Given the description of an element on the screen output the (x, y) to click on. 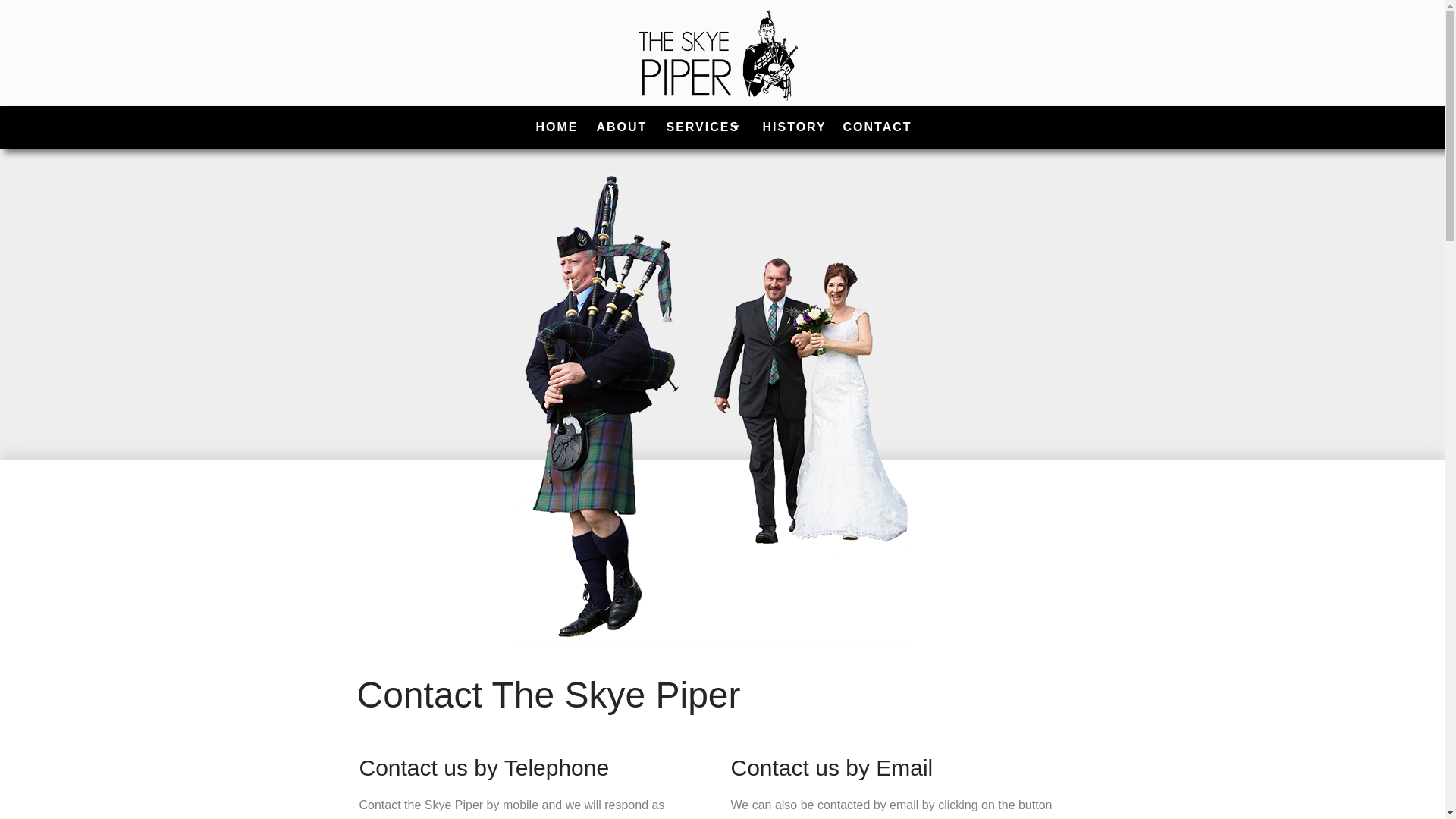
ABOUT (620, 127)
CONTACT (875, 127)
HOME (555, 127)
SERVICES (703, 127)
HISTORY (721, 127)
